Given the description of an element on the screen output the (x, y) to click on. 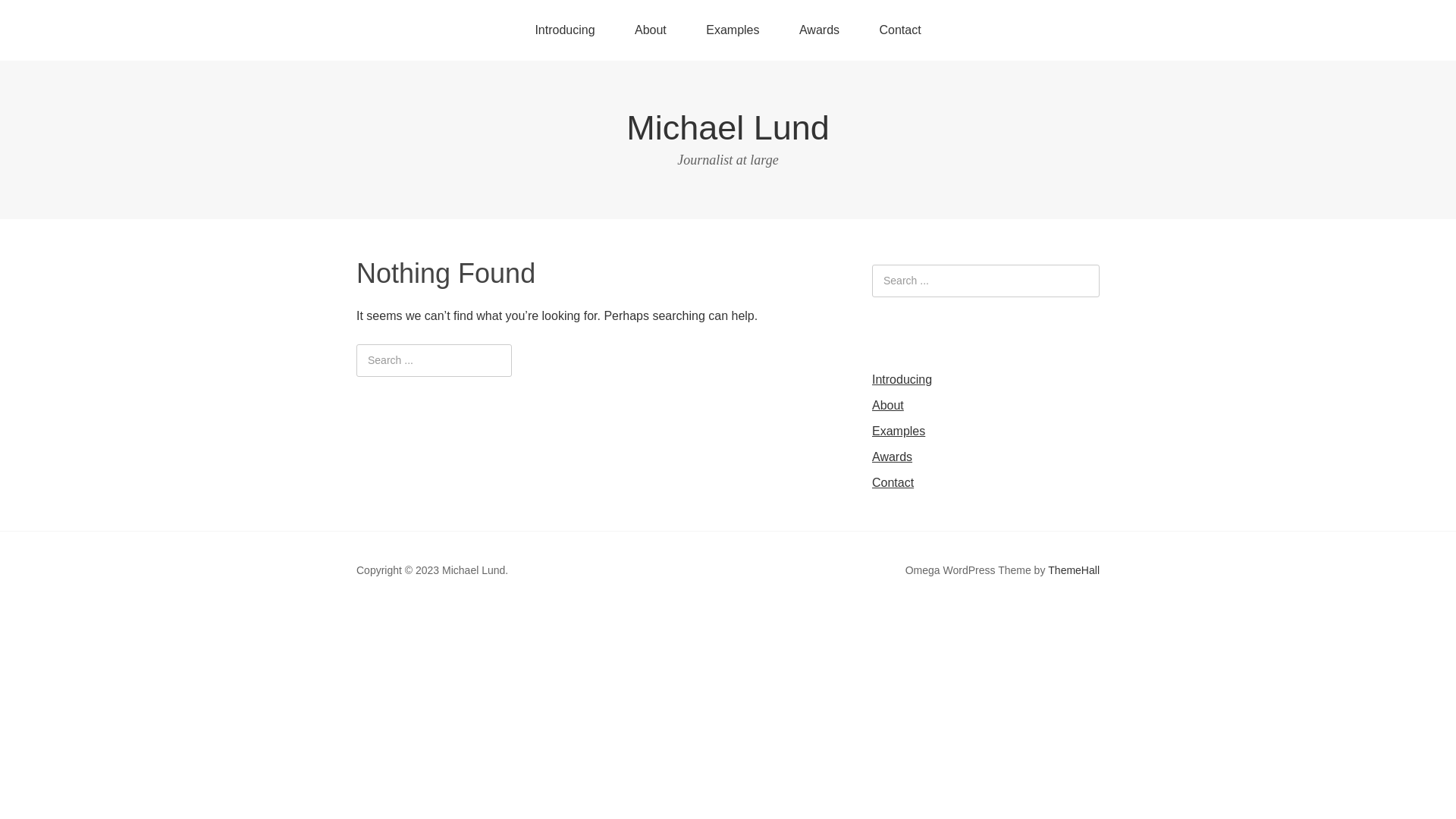
Contact Element type: text (899, 30)
Examples Element type: text (898, 430)
About Element type: text (650, 30)
Introducing Element type: text (564, 30)
Introducing Element type: text (901, 379)
Search for: Element type: hover (985, 280)
Search Element type: text (0, 0)
Awards Element type: text (892, 456)
Awards Element type: text (819, 30)
Contact Element type: text (892, 482)
ThemeHall Element type: text (1073, 570)
About Element type: text (887, 404)
Search for: Element type: hover (433, 360)
Michael Lund Element type: text (727, 127)
Examples Element type: text (732, 30)
